Given the description of an element on the screen output the (x, y) to click on. 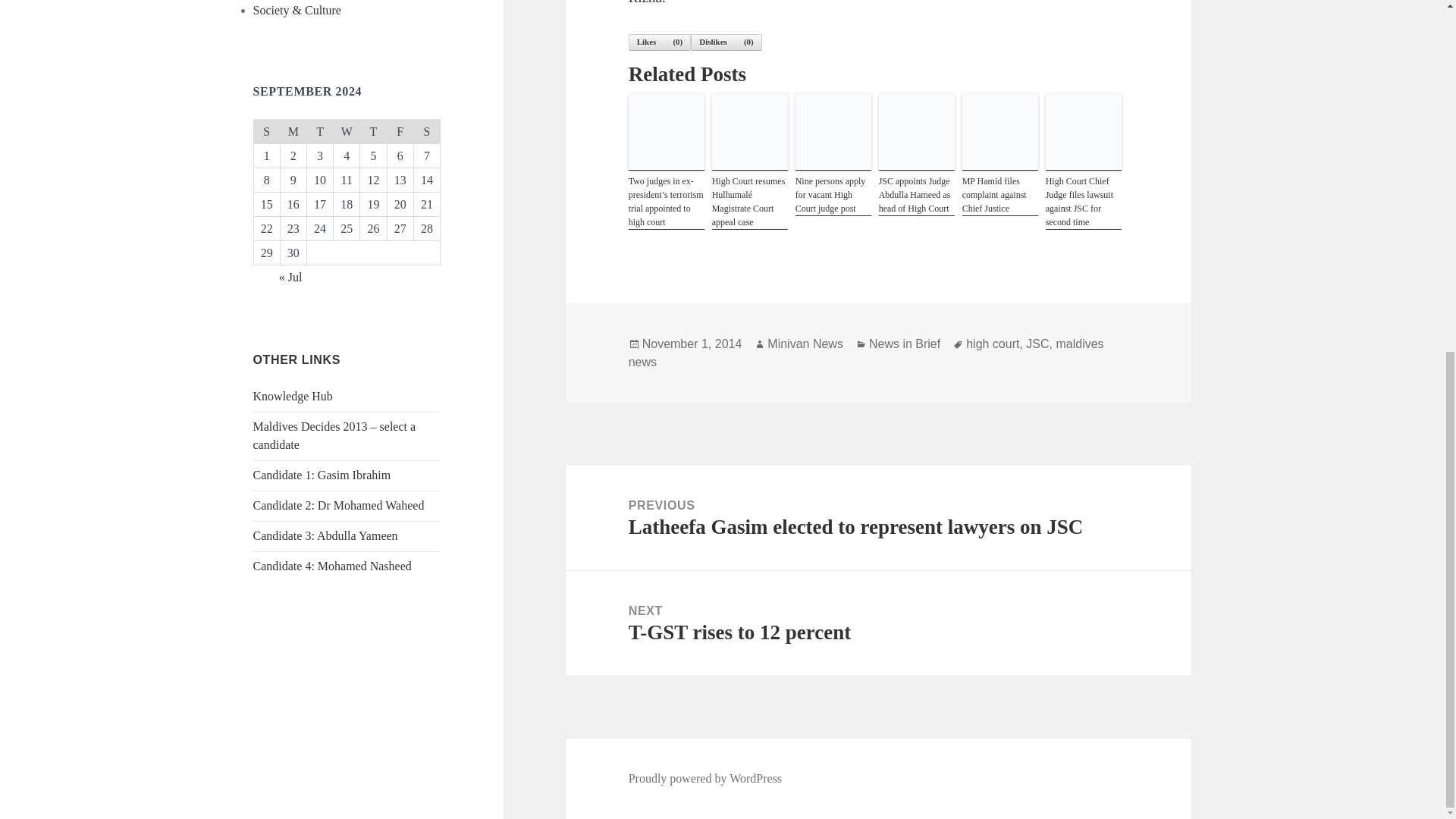
Sunday (266, 130)
JSC (1037, 344)
Nine persons apply for vacant High Court judge post (832, 195)
MP Hamid files complaint against Chief Justice (1000, 195)
Monday (292, 130)
Wednesday (346, 130)
Candidate 4: Mohamed Nasheed (332, 565)
Friday (400, 130)
Minivan News (805, 344)
